Given the description of an element on the screen output the (x, y) to click on. 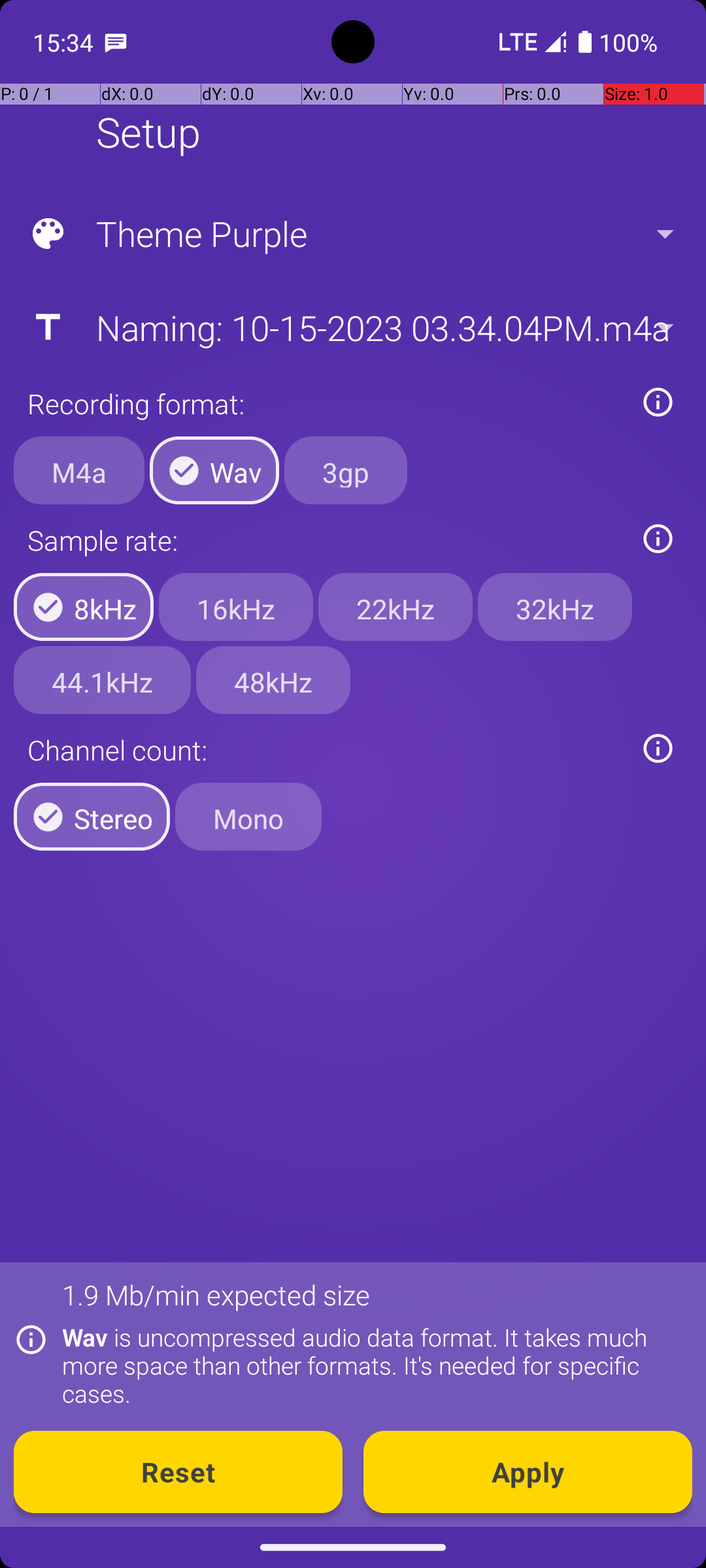
1.9 Mb/min expected size Element type: android.widget.TextView (215, 1294)
Wav is uncompressed audio data format. It takes much more space than other formats. It's needed for specific cases. Element type: android.widget.TextView (370, 1364)
Naming: 10-15-2023 03.34.04PM.m4a Element type: android.widget.TextView (352, 327)
